Given the description of an element on the screen output the (x, y) to click on. 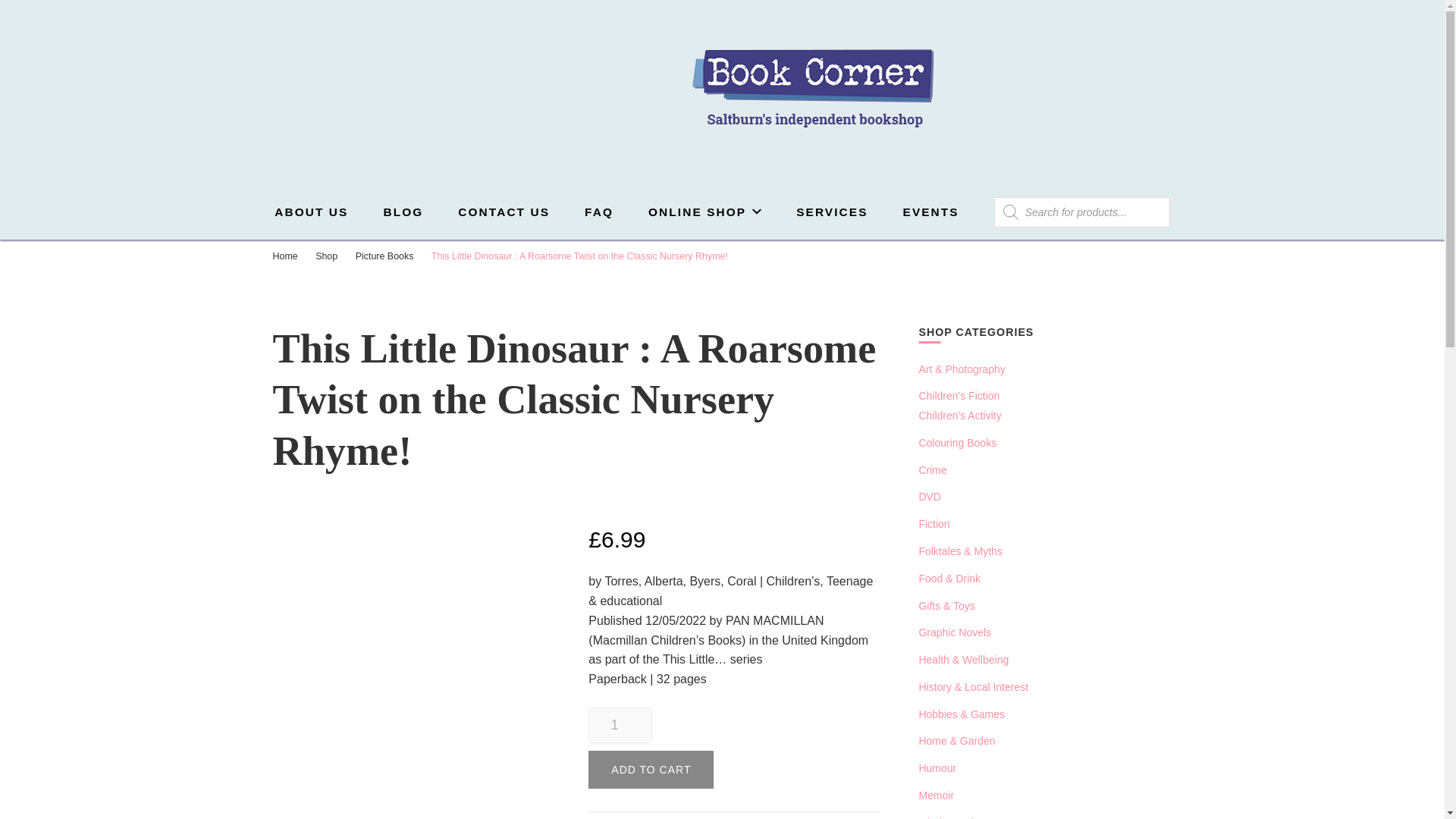
1 (619, 724)
ABOUT US (311, 211)
BLOG (402, 211)
Book Corner (600, 149)
CONTACT US (504, 211)
ONLINE SHOP (704, 211)
FAQ (598, 211)
